Given the description of an element on the screen output the (x, y) to click on. 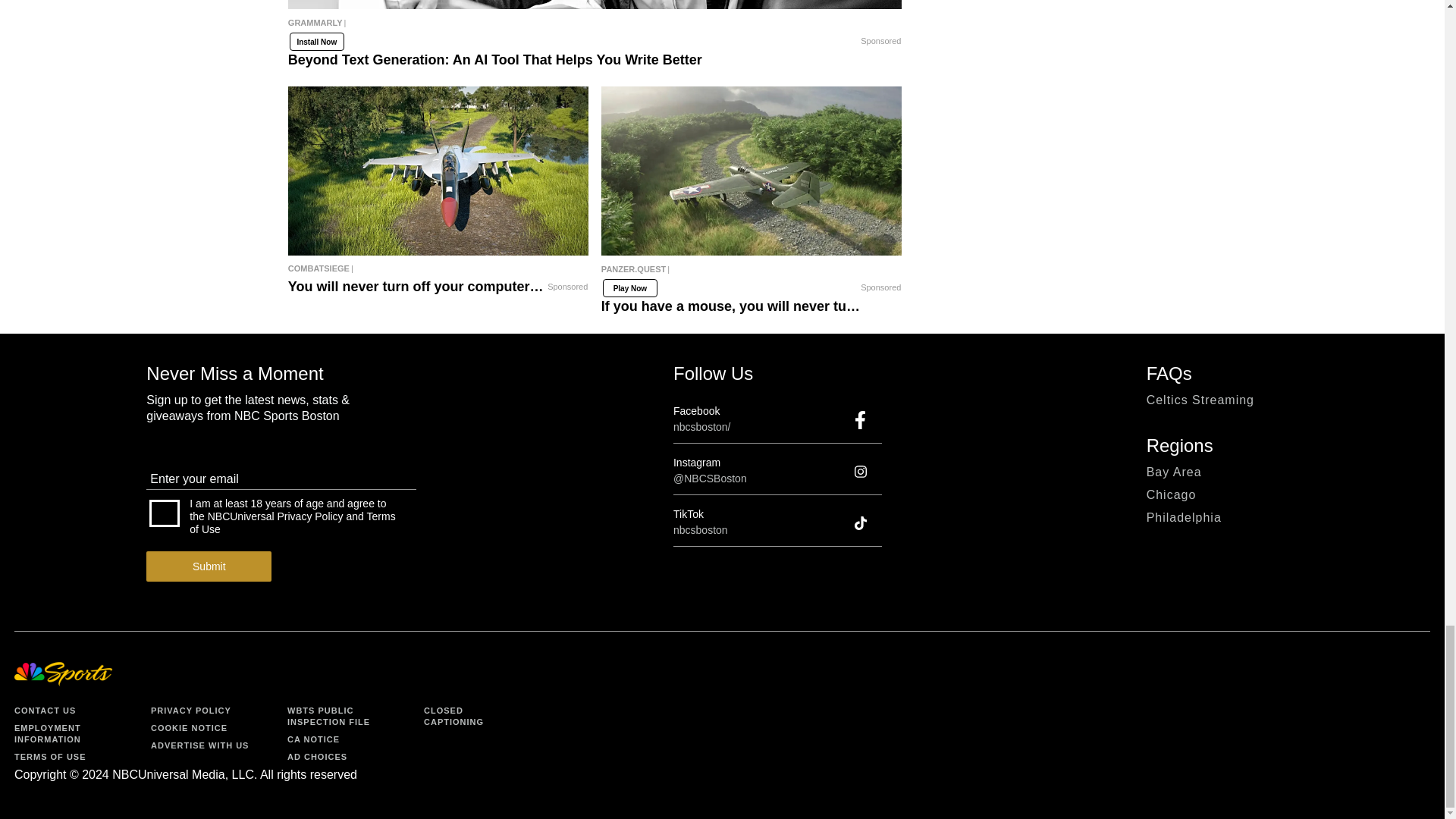
on (164, 513)
